Given the description of an element on the screen output the (x, y) to click on. 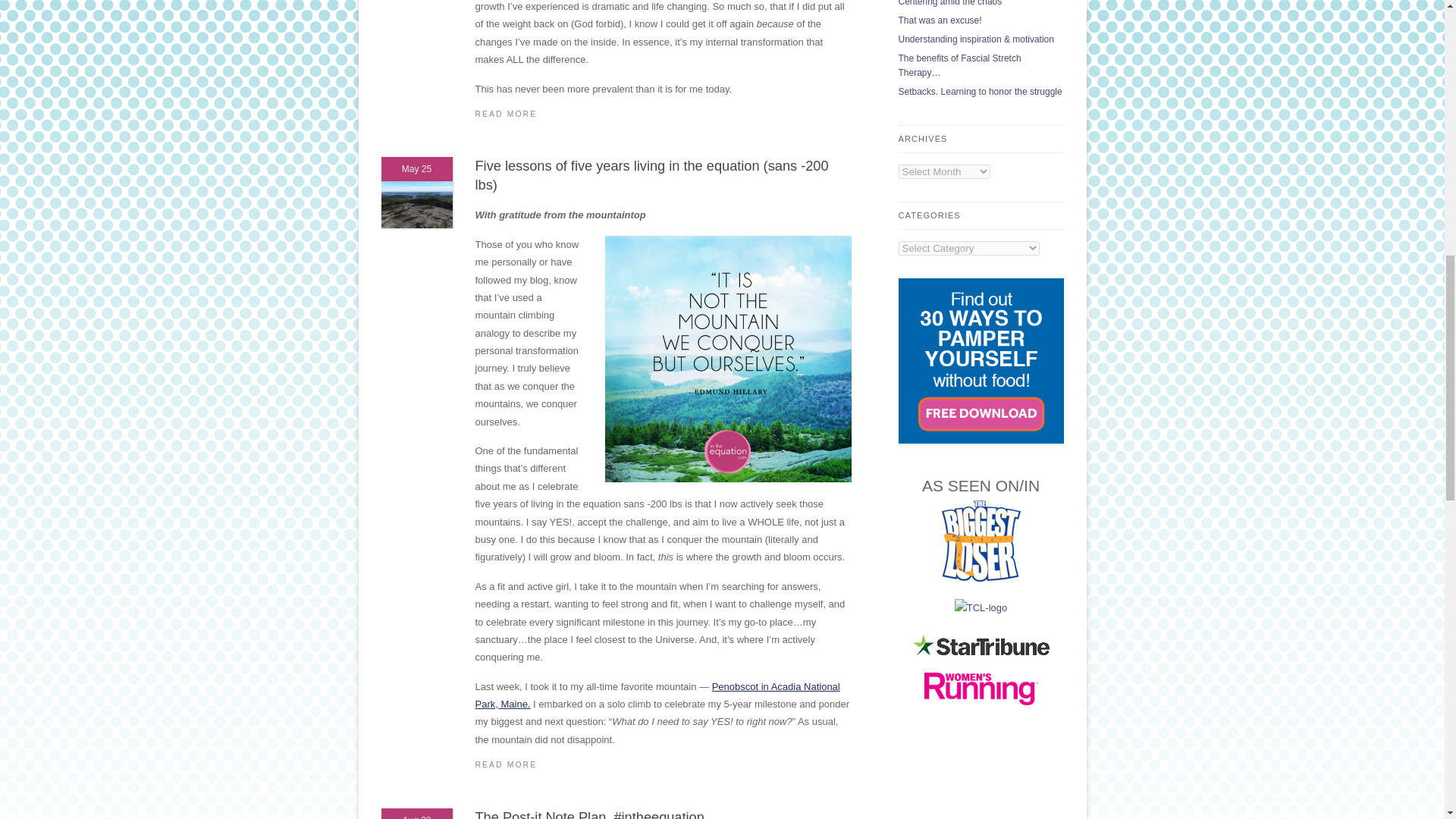
Email Address (1348, 168)
Centering amid the chaos (949, 3)
Penobscot in Acadia National Park, Maine. (657, 695)
READ MORE (662, 113)
READ MORE (662, 764)
Sign me up! (1316, 196)
